Given the description of an element on the screen output the (x, y) to click on. 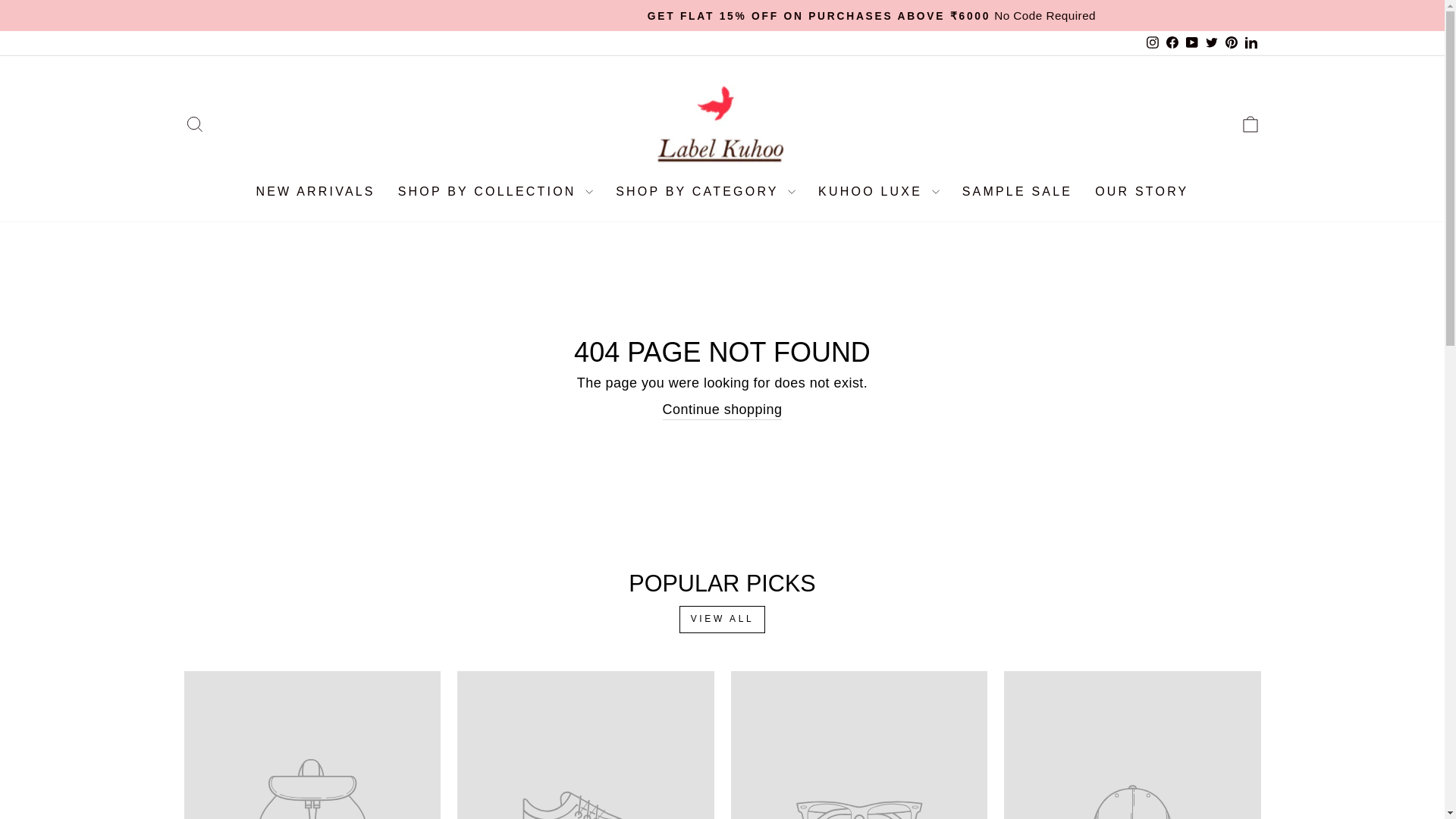
Label Kuhoo on Instagram (1151, 42)
Label Kuhoo on LinkedIn (1250, 42)
instagram (1152, 42)
ICON-BAG-MINIMAL (1249, 124)
Label Kuhoo on Twitter (1211, 42)
Label Kuhoo on Pinterest (1230, 42)
Label Kuhoo on Facebook (1170, 42)
twitter (1211, 42)
ICON-SEARCH (194, 124)
Label Kuhoo on YouTube (1190, 42)
